Given the description of an element on the screen output the (x, y) to click on. 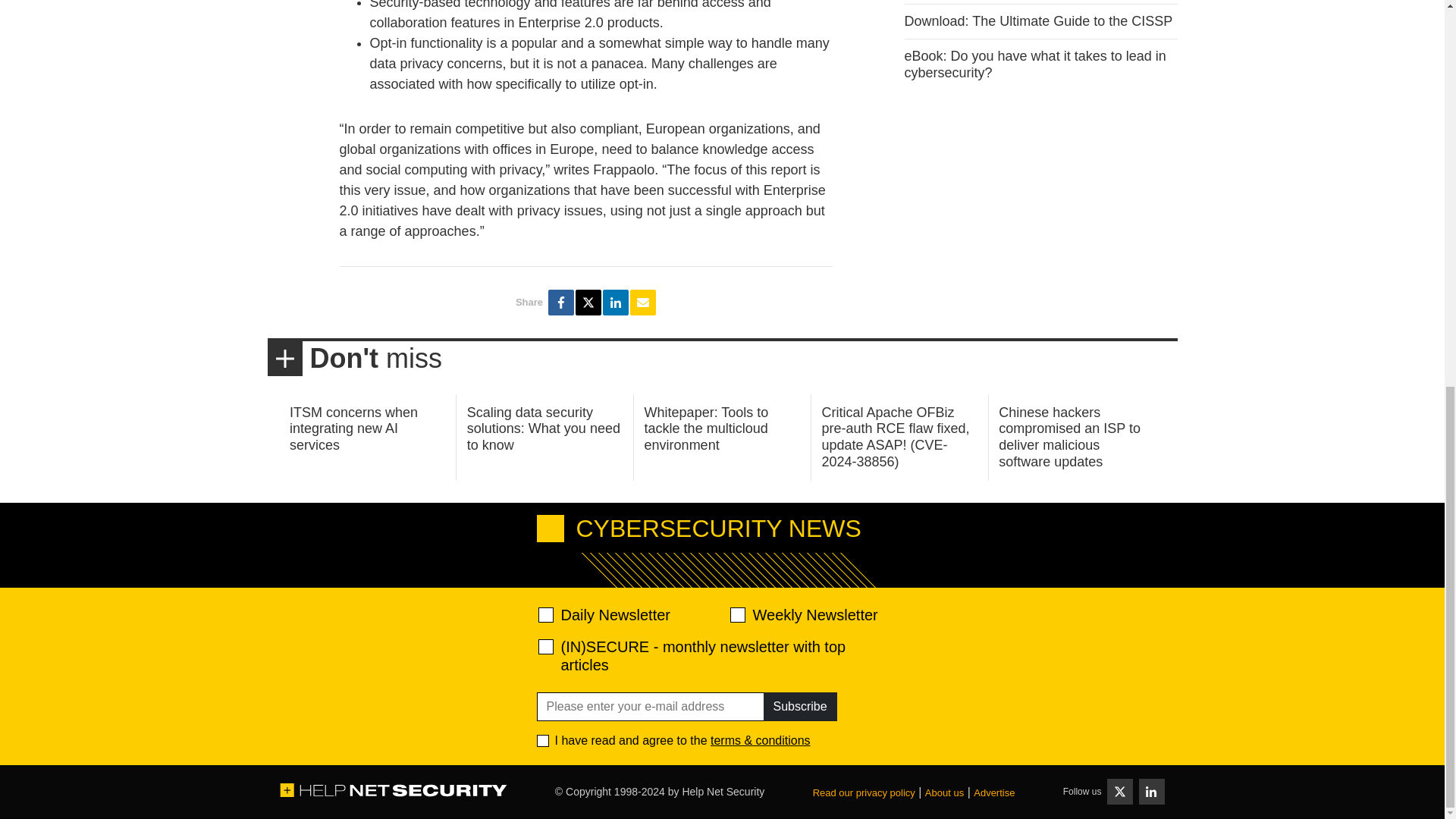
Scaling data security solutions: What you need to know (543, 428)
Share Enterprise 2.0 privacy concerns in Europe on LinkedIn (615, 302)
Download: The Ultimate Guide to the CISSP (1038, 20)
28abe5d9ef (545, 646)
Share Enterprise 2.0 privacy concerns in Europe on Facebook (560, 302)
Download: The Ultimate Guide to the CISSP (1038, 20)
Whitepaper: Tools to tackle the multicloud environment (706, 428)
ITSM concerns when integrating new AI services (353, 428)
520ac2f639 (545, 614)
